Given the description of an element on the screen output the (x, y) to click on. 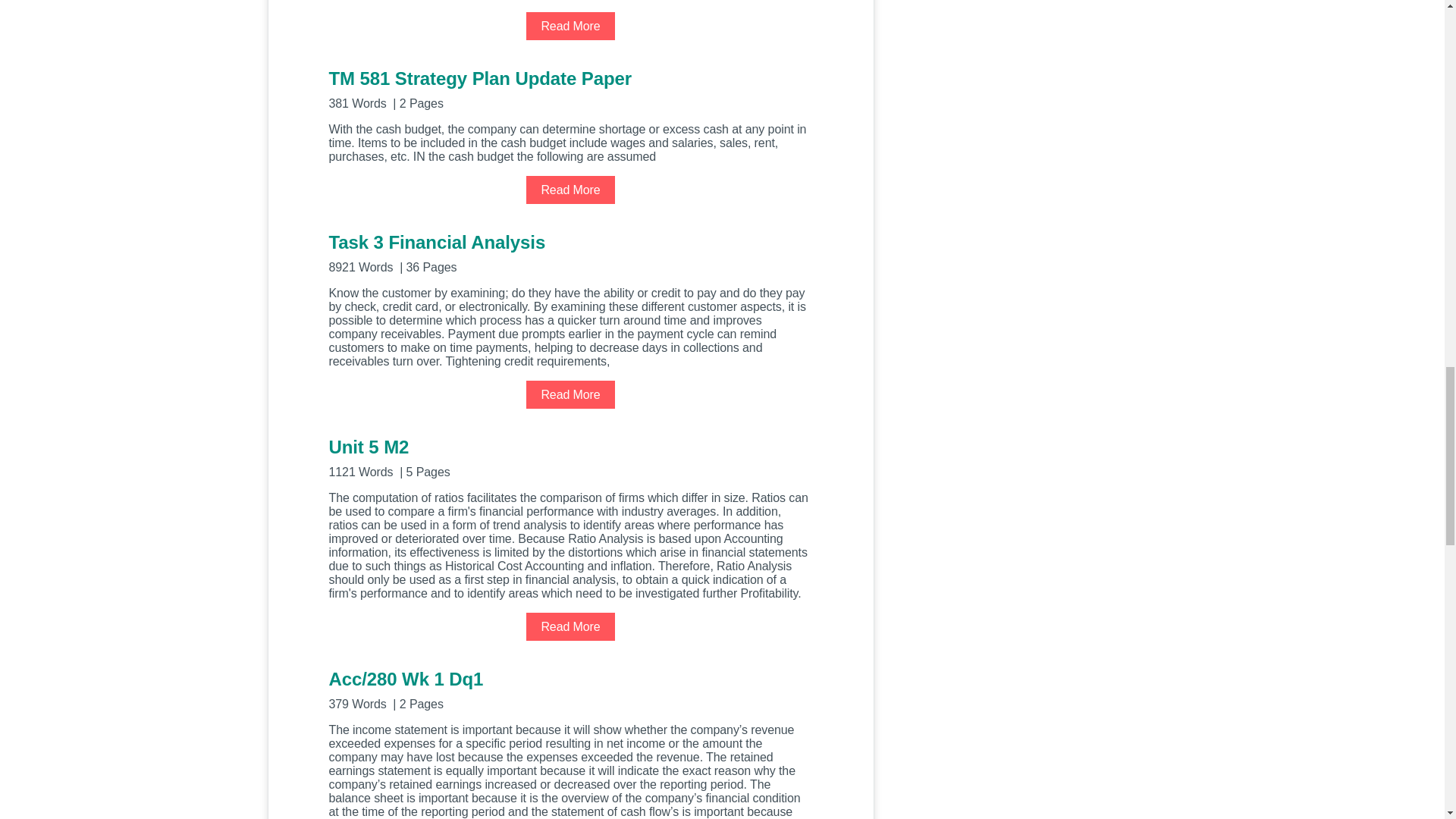
Unit 5 M2 (570, 456)
Read More (569, 394)
Read More (569, 189)
Task 3 Financial Analysis (570, 251)
TM 581 Strategy Plan Update Paper (570, 87)
Read More (569, 26)
Read More (569, 626)
